Given the description of an element on the screen output the (x, y) to click on. 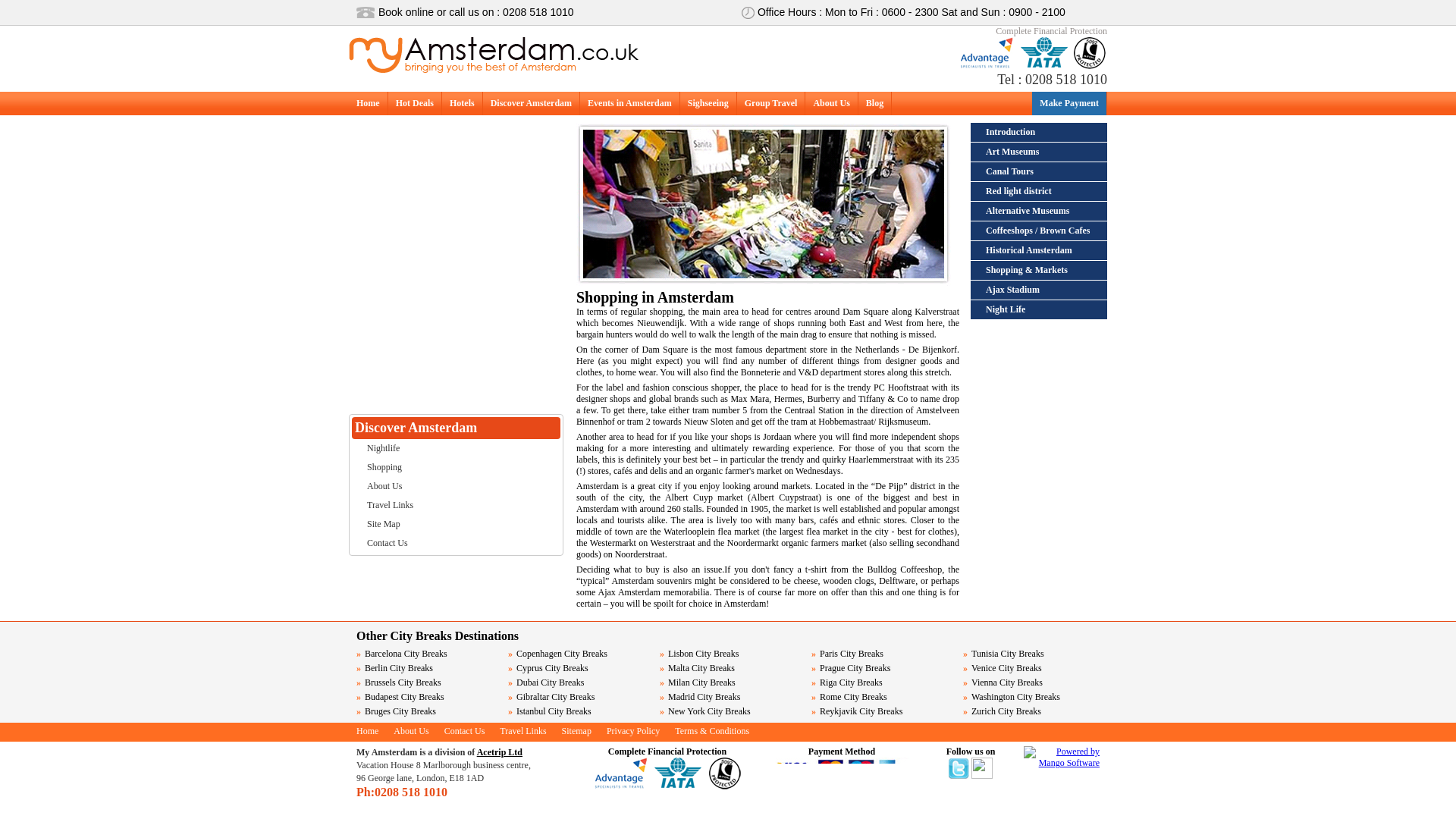
Group Travel (770, 103)
Travel Links (456, 505)
Site Map (456, 524)
Shopping (456, 466)
Nightlife (456, 447)
Our Company (456, 486)
Introduction (1038, 131)
Hot Deals (414, 103)
Events in Amsterdam (629, 103)
Contact Us (456, 542)
